Given the description of an element on the screen output the (x, y) to click on. 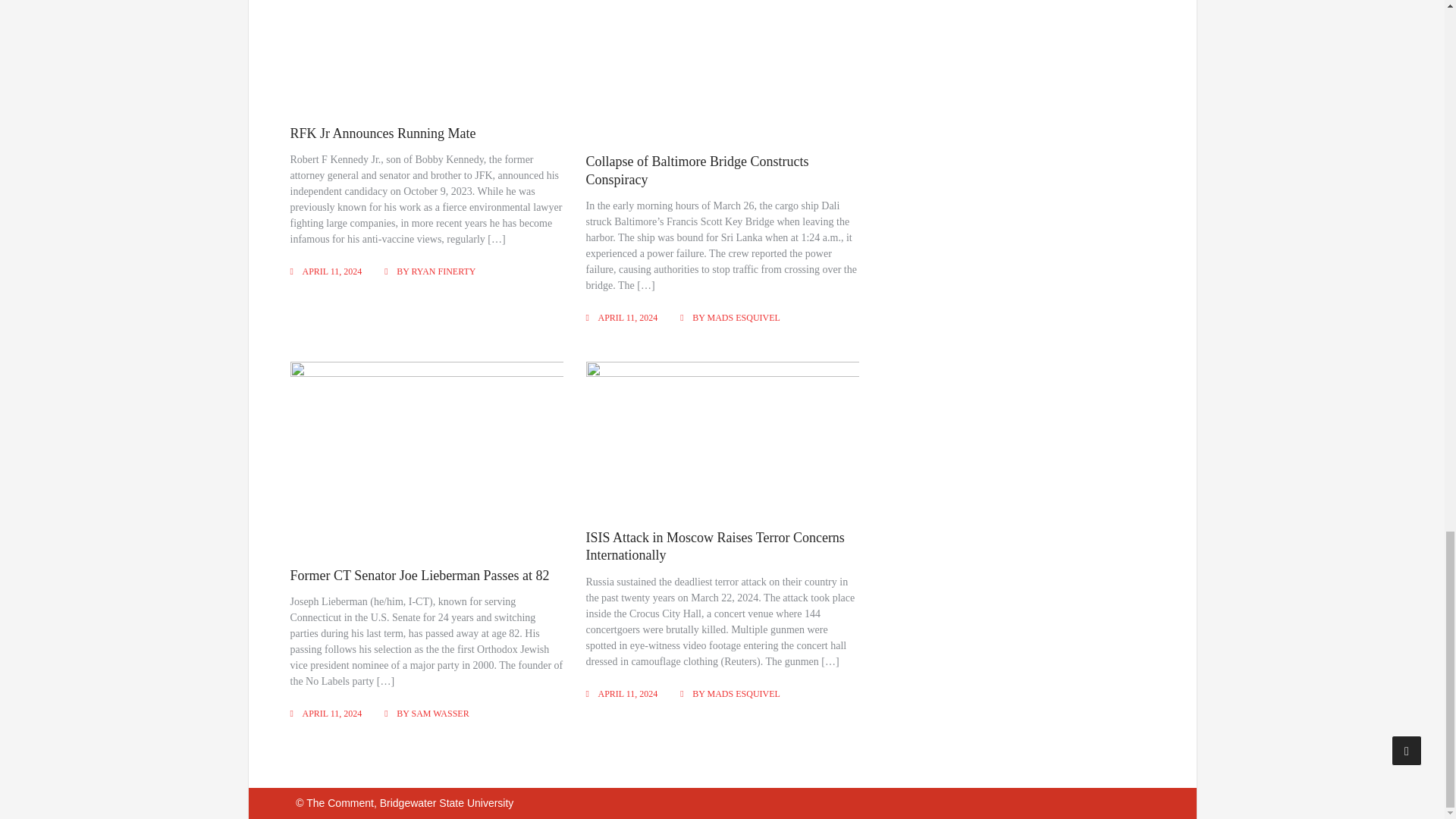
MADS ESQUIVEL (743, 317)
APRIL 11, 2024 (628, 317)
RYAN FINERTY (444, 271)
APRIL 11, 2024 (331, 271)
Collapse of Baltimore Bridge Constructs Conspiracy (697, 169)
RFK Jr Announces Running Mate (382, 133)
